Given the description of an element on the screen output the (x, y) to click on. 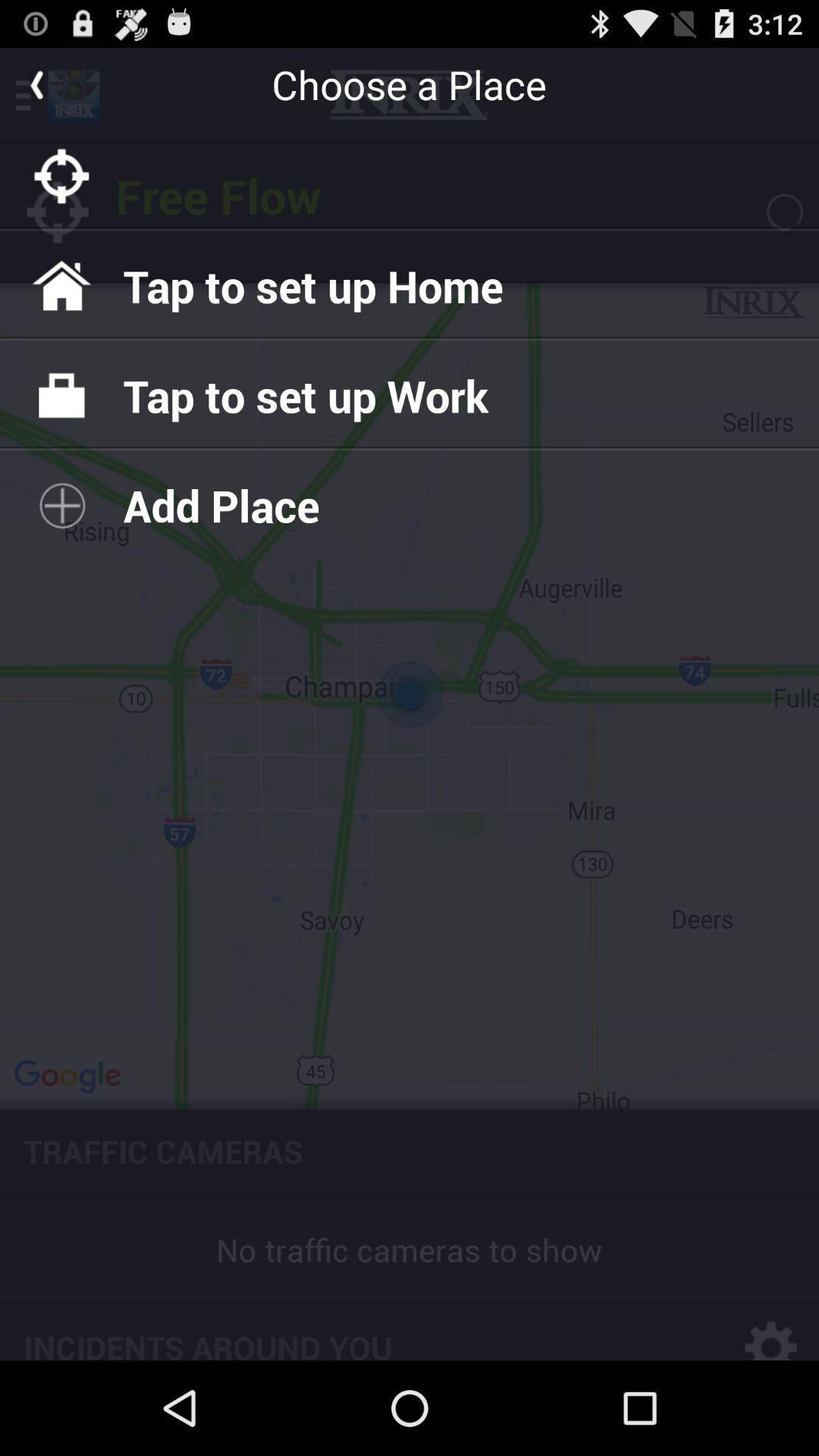
go back (35, 84)
